Given the description of an element on the screen output the (x, y) to click on. 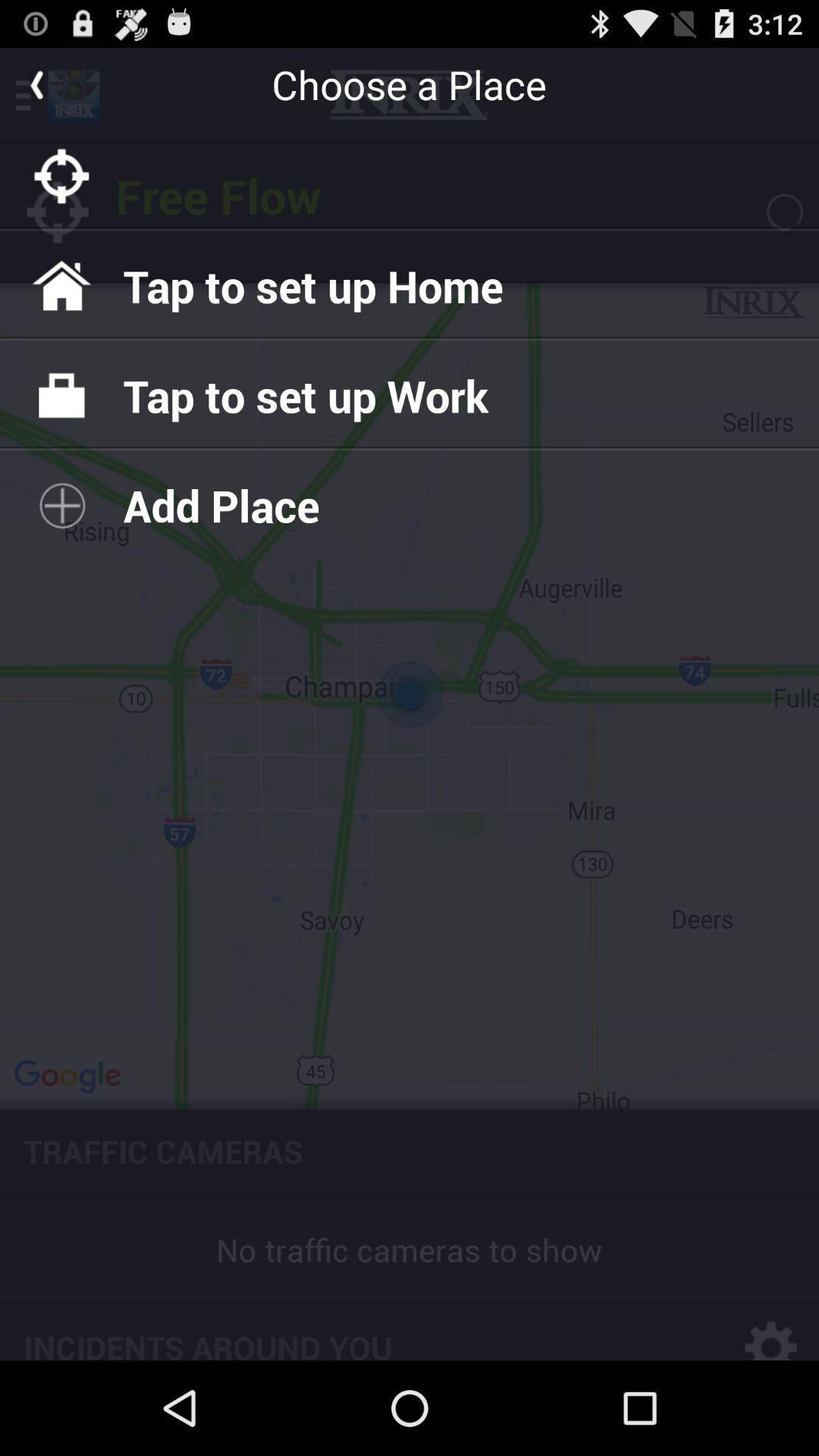
go back (35, 84)
